Given the description of an element on the screen output the (x, y) to click on. 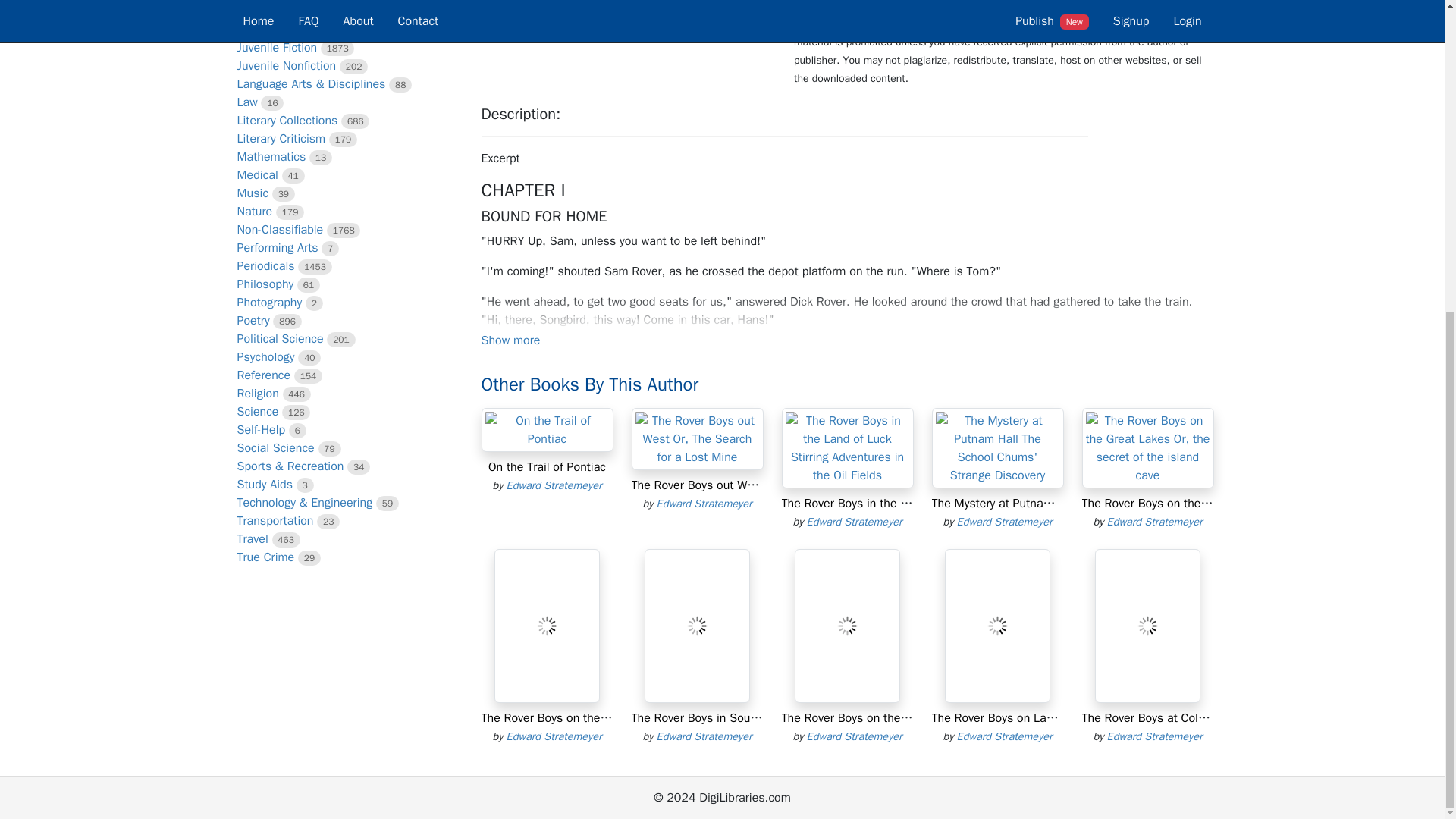
Mathematics (270, 156)
Medical (256, 174)
Literary Collections (286, 120)
Juvenile Nonfiction (285, 65)
Juvenile Fiction (276, 47)
Humor (252, 29)
Law (246, 102)
Literary Criticism (279, 138)
